Given the description of an element on the screen output the (x, y) to click on. 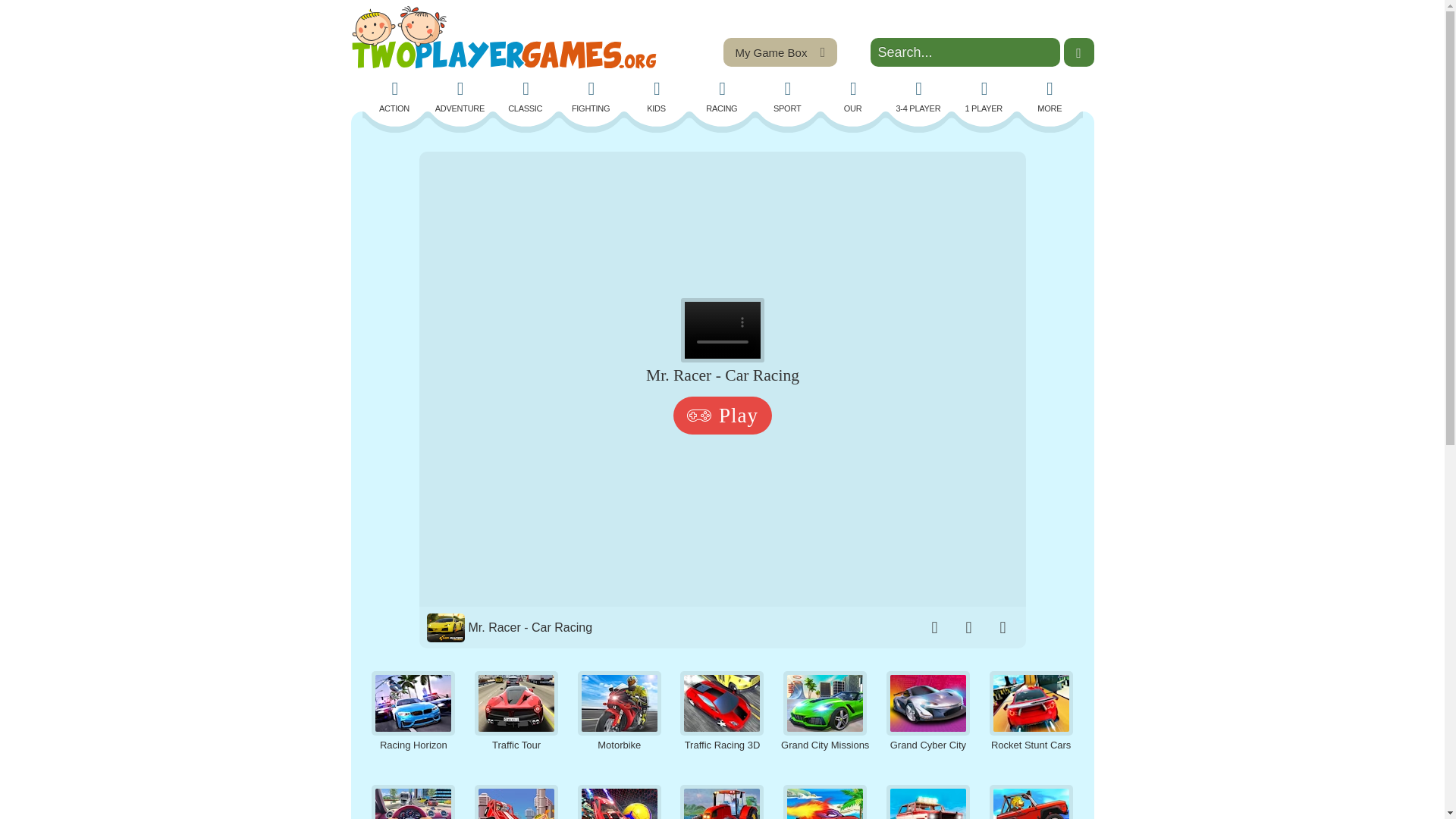
CLASSIC (525, 97)
RACING (721, 97)
Adventure Games (460, 97)
Action Games (395, 97)
KIDS (656, 97)
Kids Games (656, 97)
Two Player Games (503, 37)
1 Player Games (984, 97)
ACTION (395, 97)
Fighting Games (591, 97)
3-4 PLAYER (917, 97)
Classic Games (525, 97)
MORE (1048, 97)
FIGHTING (591, 97)
ADVENTURE (460, 97)
